Given the description of an element on the screen output the (x, y) to click on. 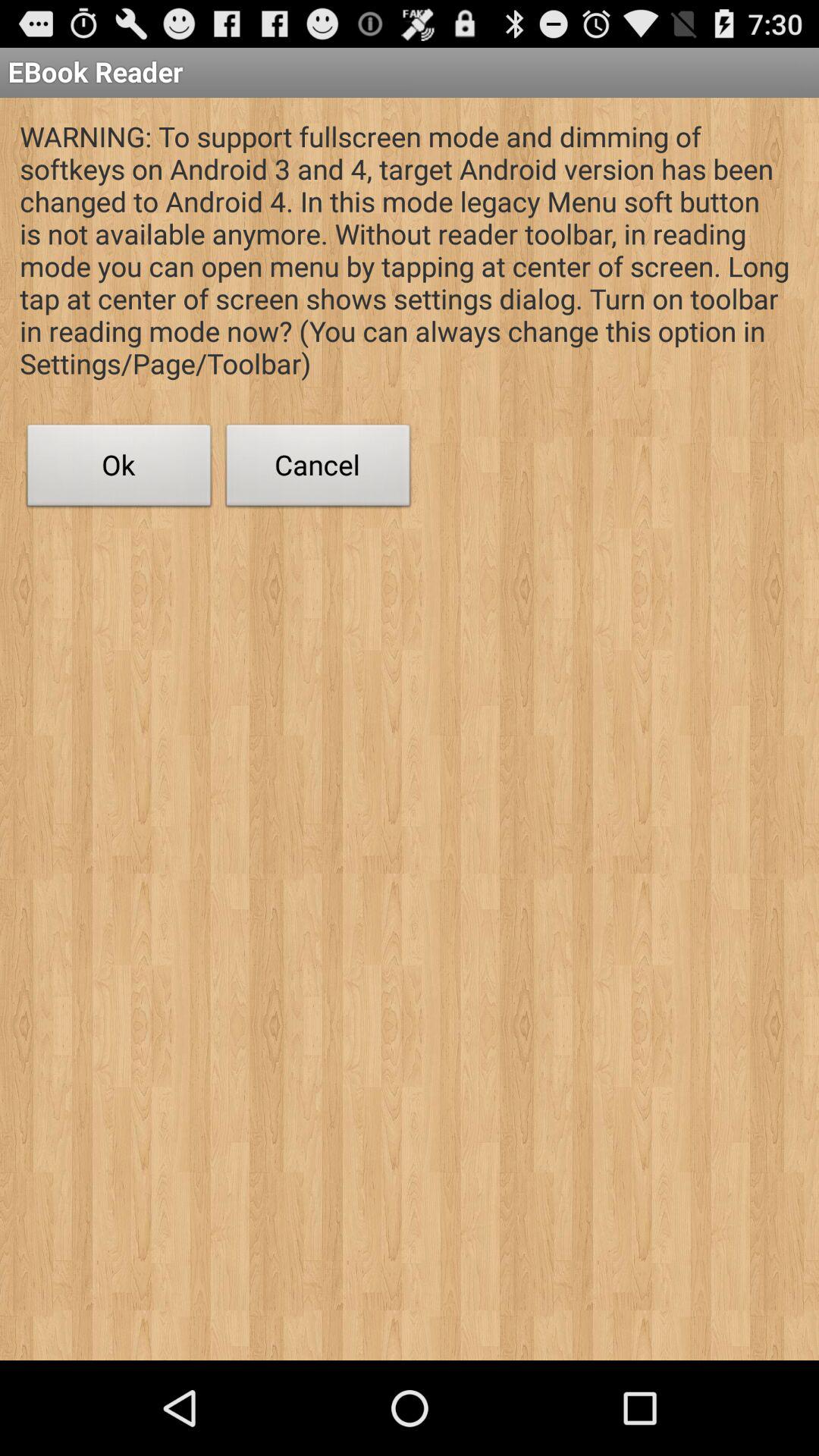
click button at the top left corner (118, 469)
